Given the description of an element on the screen output the (x, y) to click on. 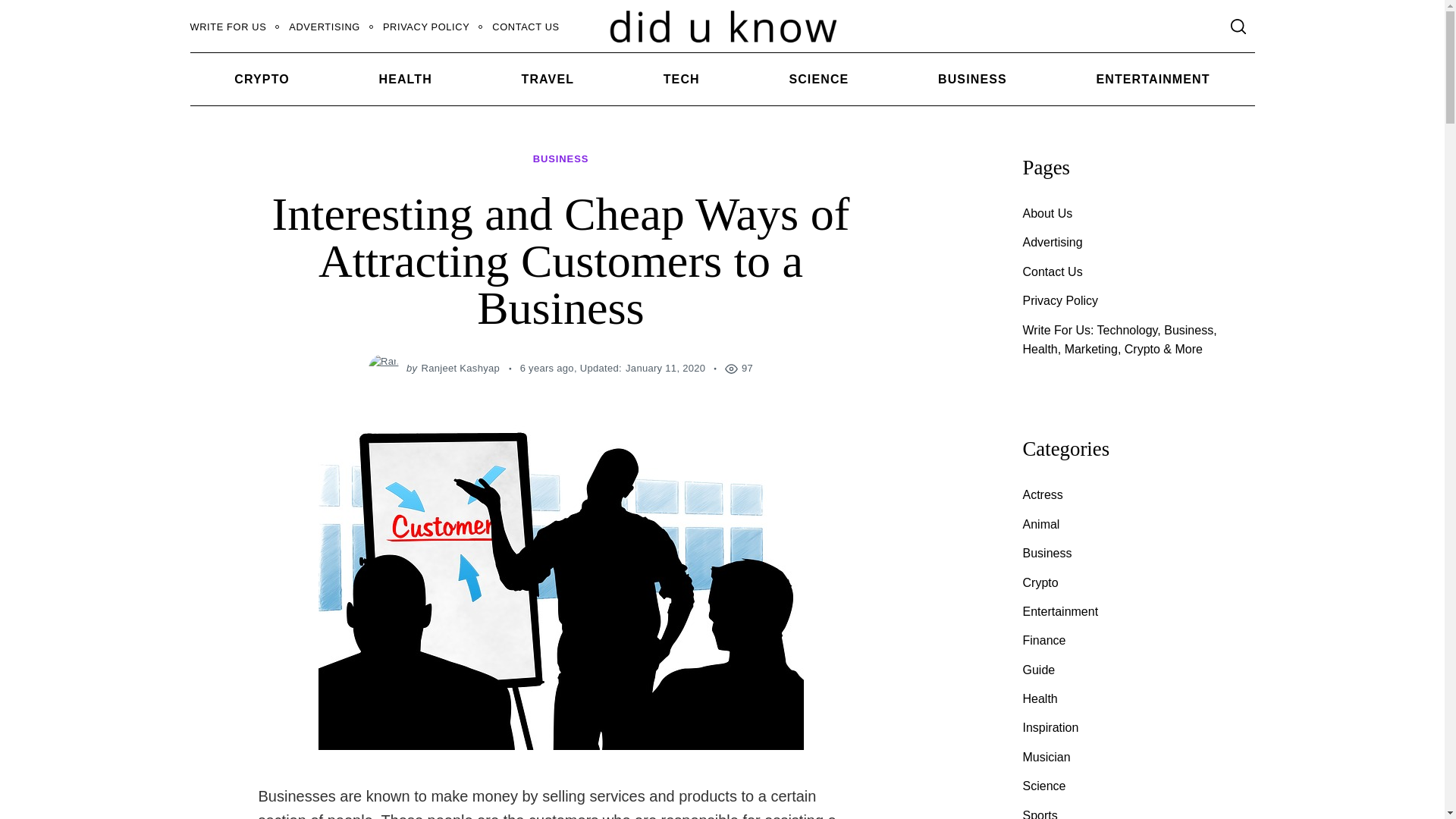
SCIENCE (818, 78)
HEALTH (405, 78)
Ranjeet Kashyap (461, 367)
BUSINESS (972, 78)
BUSINESS (560, 159)
ENTERTAINMENT (1153, 78)
TECH (681, 78)
TRAVEL (547, 78)
CRYPTO (261, 78)
